Given the description of an element on the screen output the (x, y) to click on. 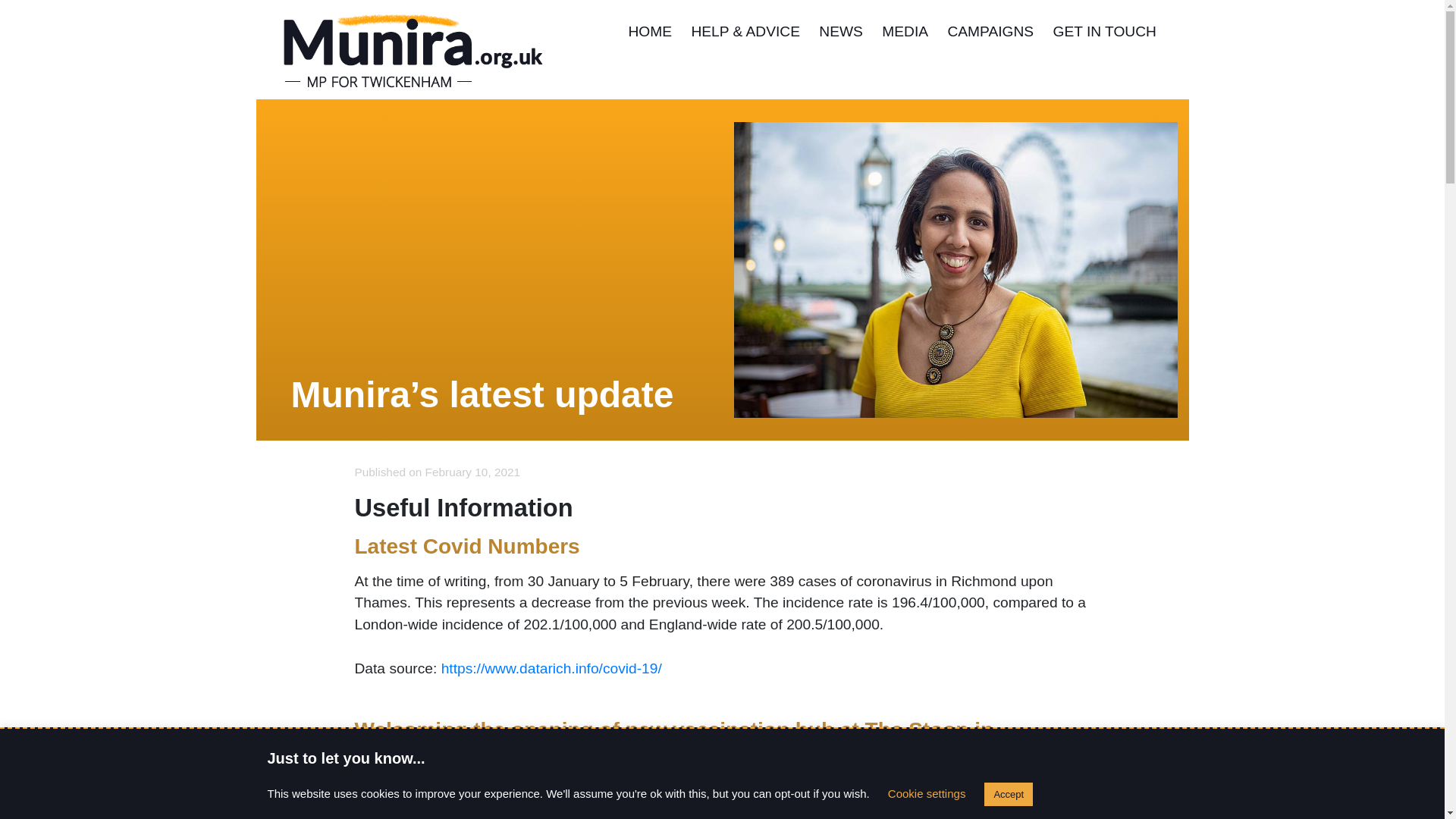
MEDIA (905, 34)
NEWS (840, 34)
GET IN TOUCH (1104, 34)
HOME (649, 34)
CAMPAIGNS (990, 34)
